Given the description of an element on the screen output the (x, y) to click on. 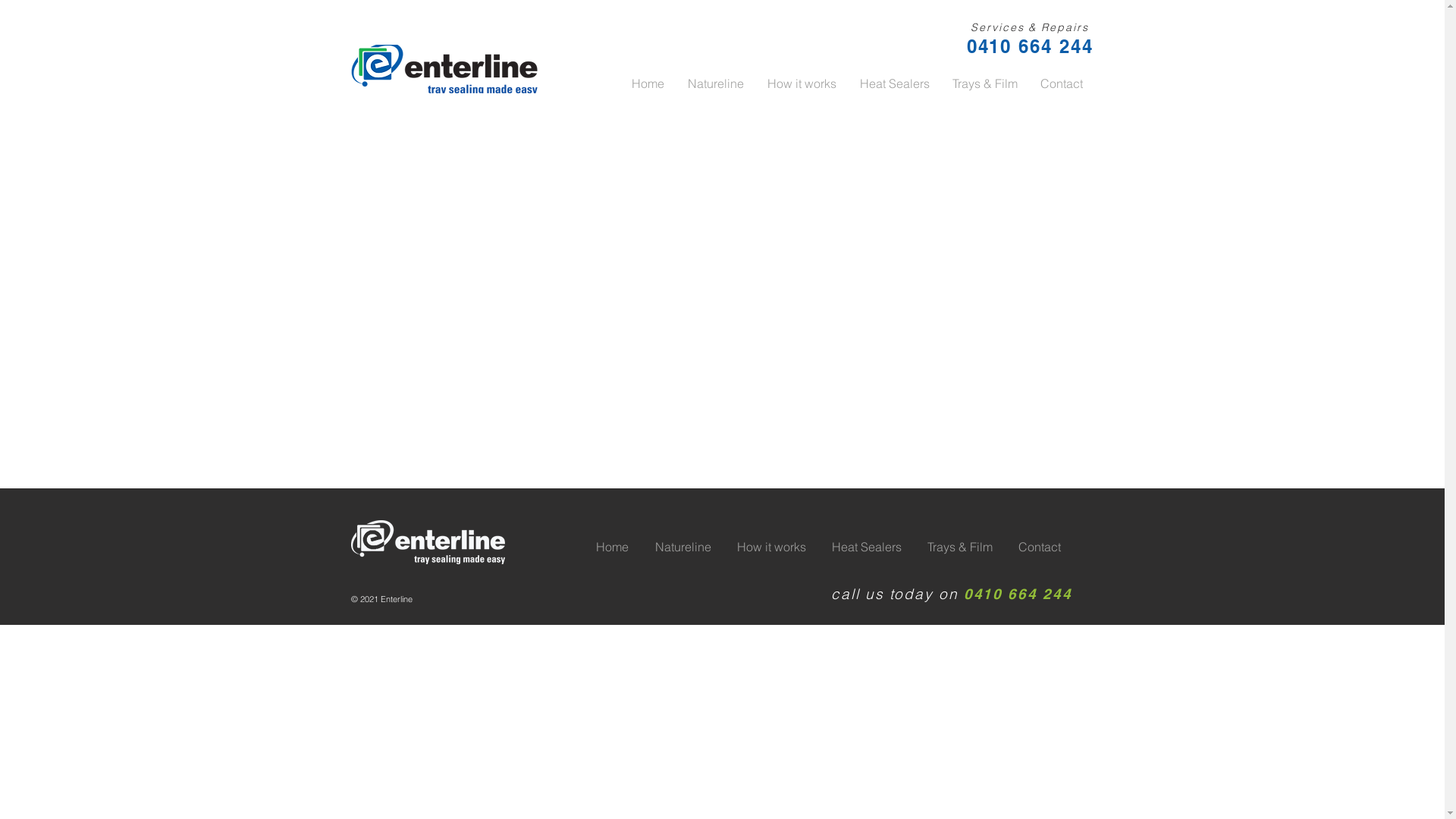
Natureline Element type: text (714, 83)
Heat Sealers Element type: text (865, 546)
How it works Element type: text (801, 83)
Home Element type: text (646, 83)
Trays & Film Element type: text (984, 83)
Trays & Film Element type: text (958, 546)
Contact Element type: text (1038, 546)
Heat Sealers Element type: text (894, 83)
How it works Element type: text (768, 546)
Contact Element type: text (1060, 83)
Home Element type: text (610, 546)
Natureline Element type: text (681, 546)
